Given the description of an element on the screen output the (x, y) to click on. 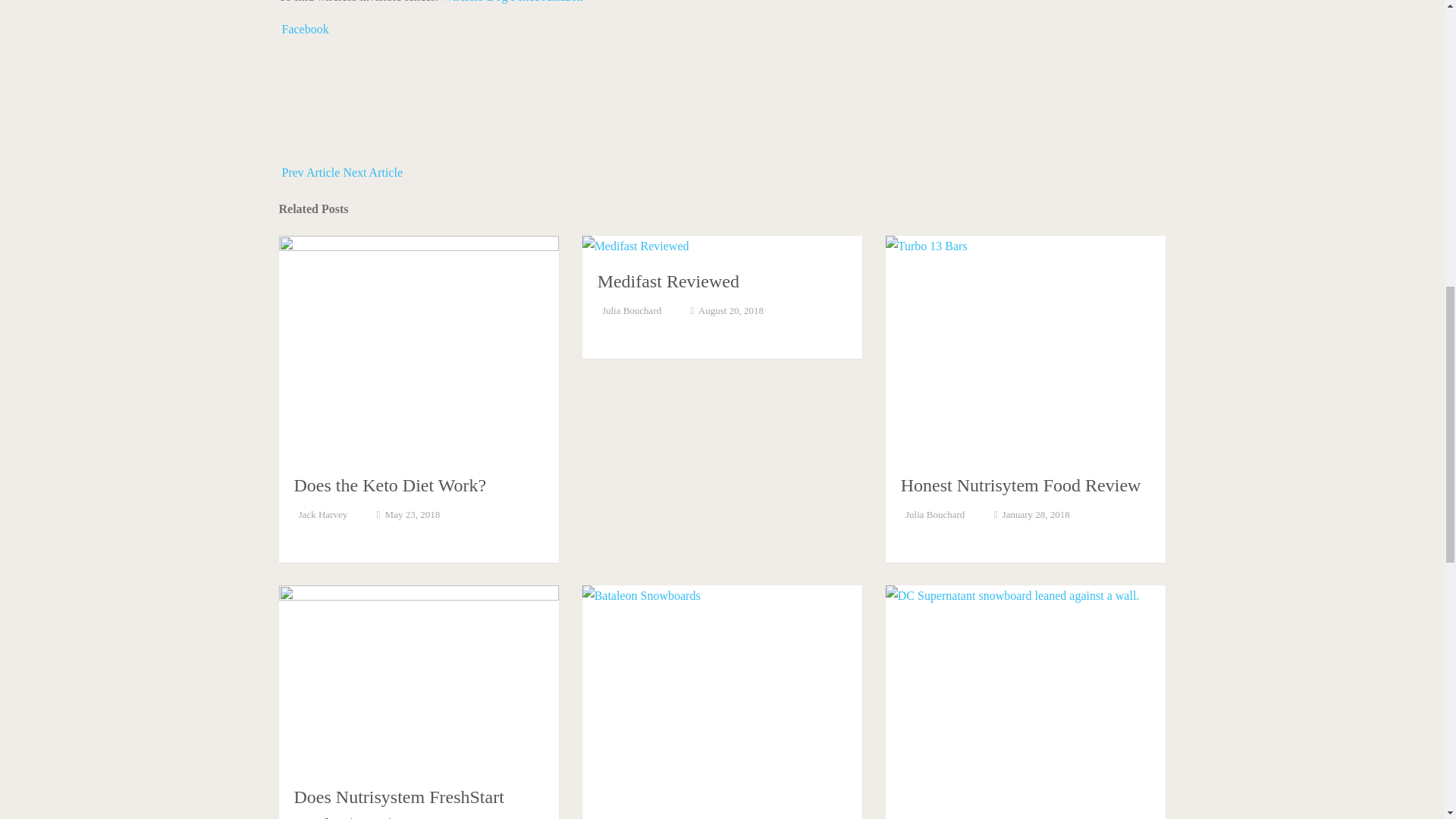
Facebook (304, 29)
Medifast Reviewed (667, 281)
Does the Keto Diet Work? (390, 485)
Honest Nutrisytem Food Review (1021, 485)
Posts by Jack Harvey (322, 514)
Wireless Dog Fence Amazon (511, 1)
Next Article (374, 172)
Honest Nutrisytem Food Review (1021, 485)
Posts by Julia Bouchard (934, 514)
Posts by Julia Bouchard (631, 310)
